Given the description of an element on the screen output the (x, y) to click on. 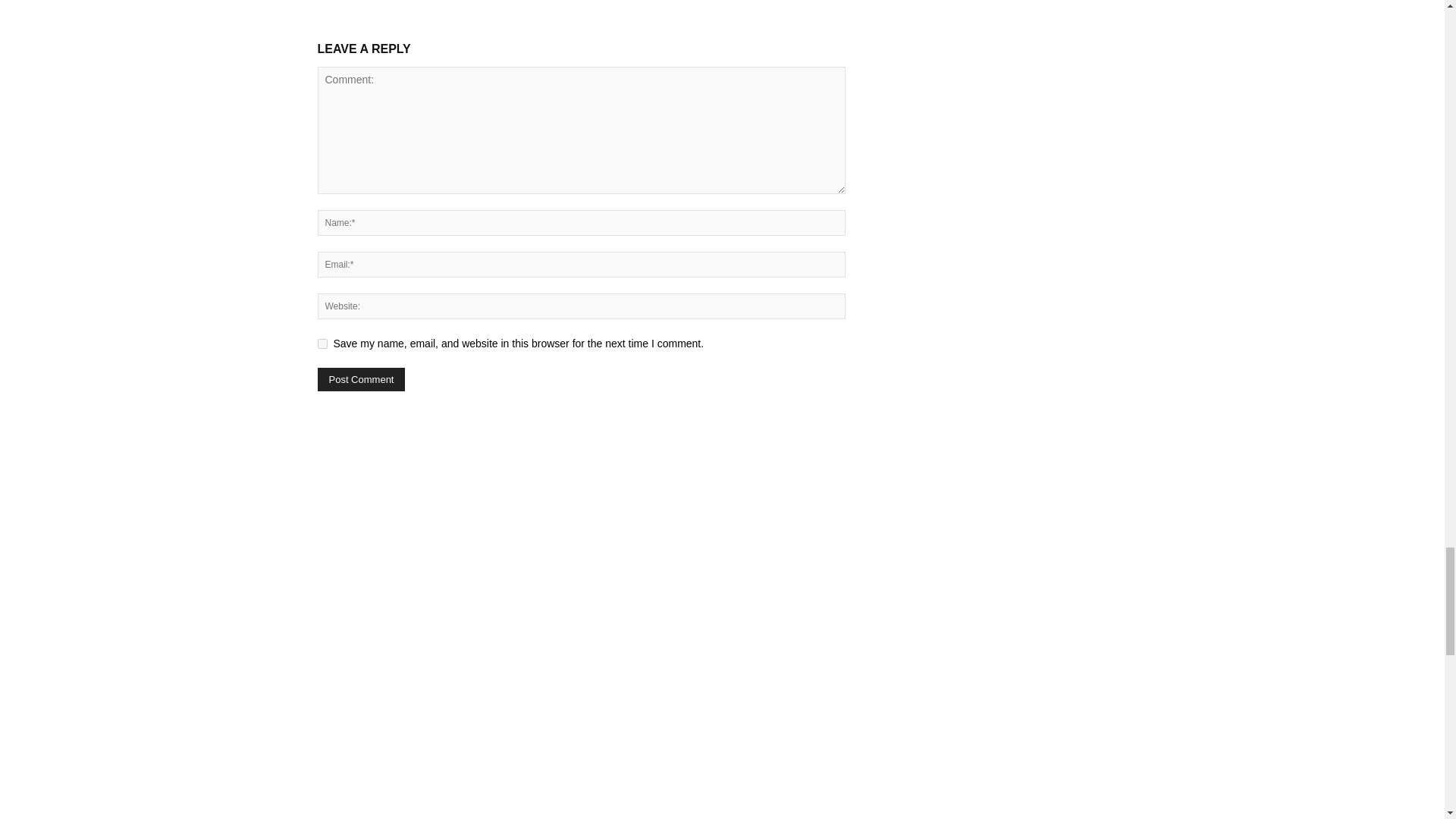
yes (321, 343)
Post Comment (360, 379)
